Given the description of an element on the screen output the (x, y) to click on. 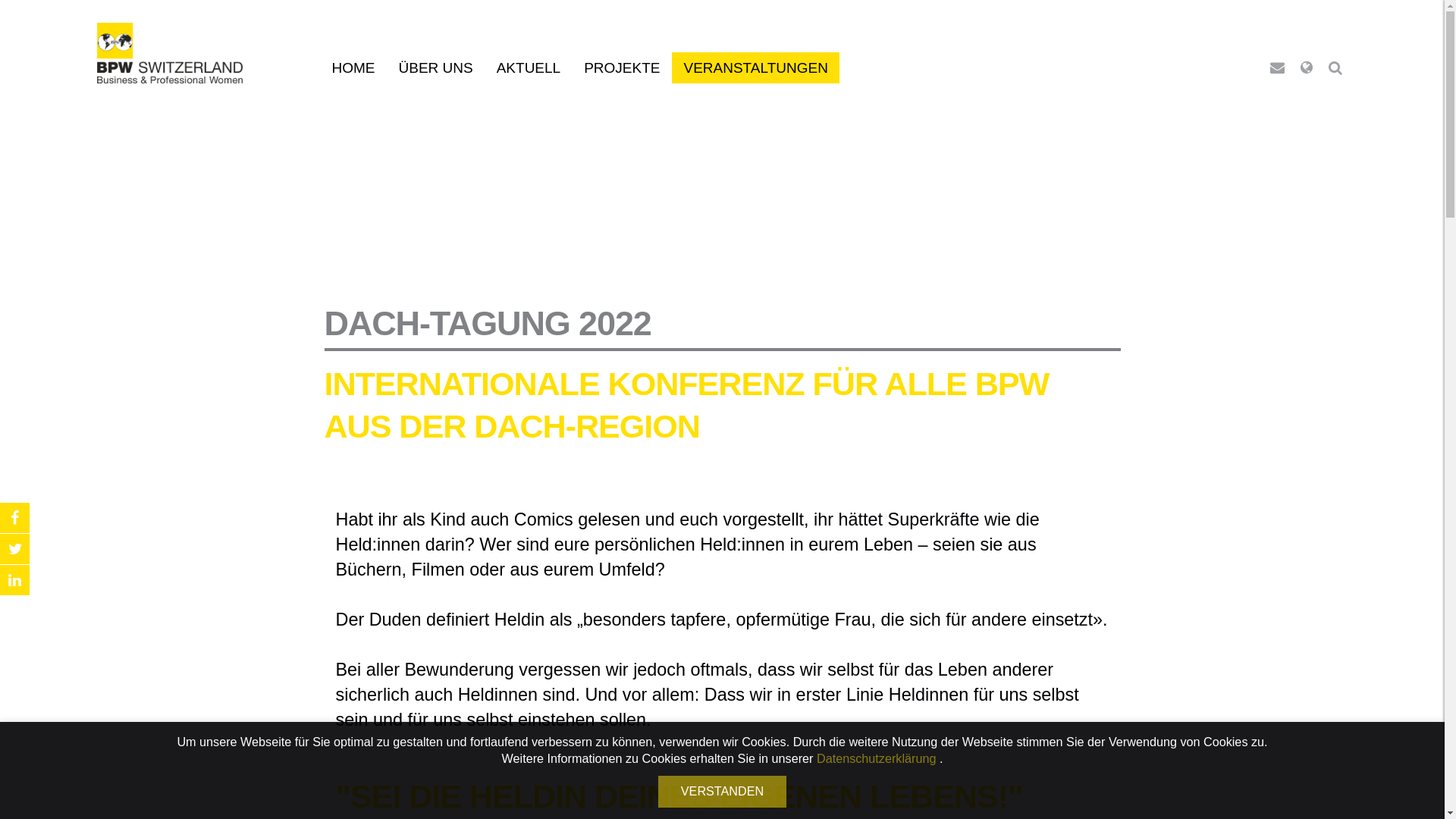
VERSTANDEN Element type: text (722, 791)
PROJEKTE Element type: text (621, 67)
HOME Element type: text (352, 67)
VERANSTALTUNGEN Element type: text (754, 67)
AKTUELL Element type: text (528, 67)
